Given the description of an element on the screen output the (x, y) to click on. 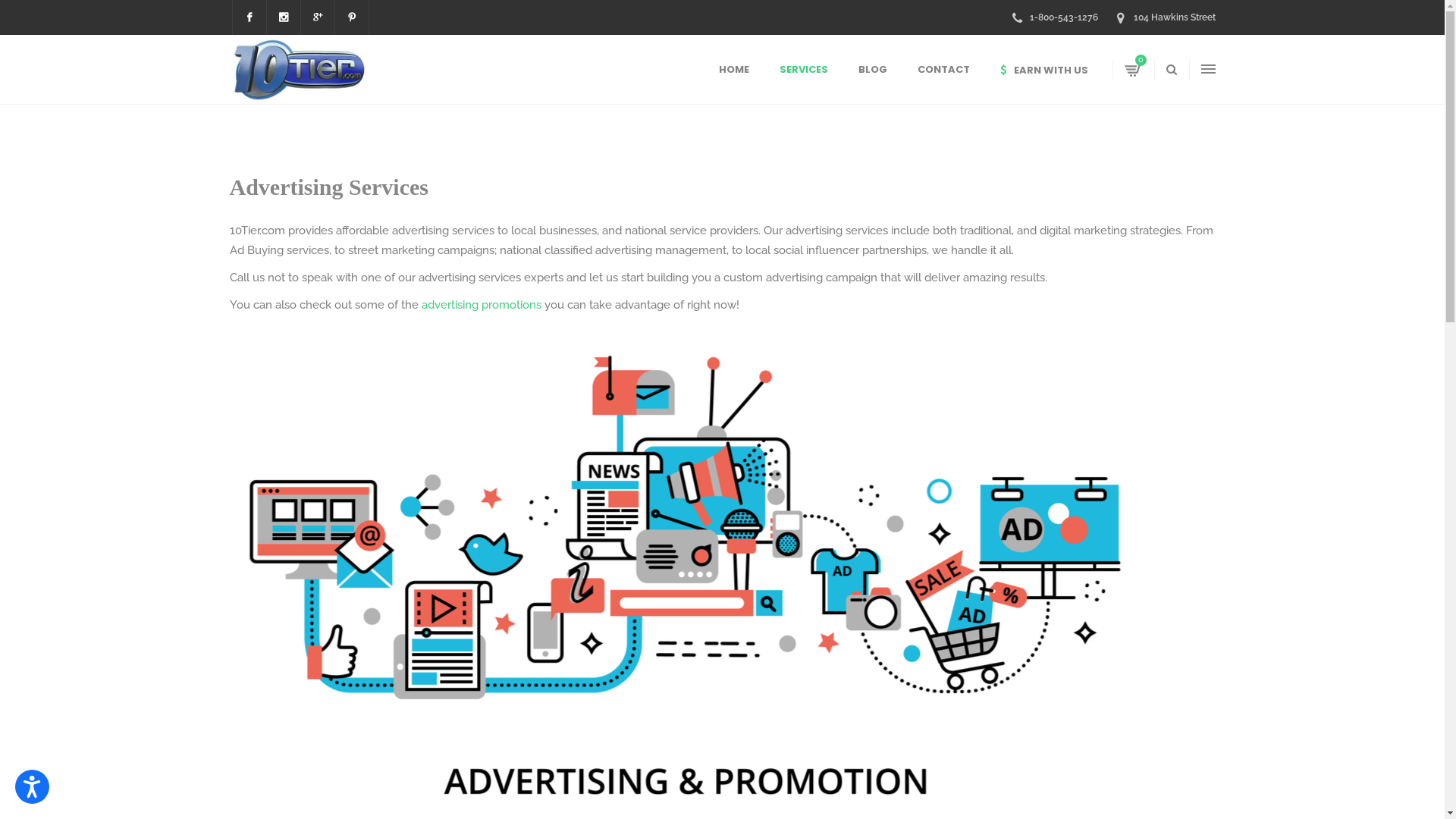
EARN WITH US Element type: text (1043, 68)
Search Element type: text (1144, 128)
CONTACT Element type: text (943, 68)
advertising promotions Element type: text (481, 304)
online advertising experts NYC Element type: hover (684, 576)
BLOG Element type: text (872, 68)
HOME Element type: text (733, 68)
0 Element type: text (1132, 69)
SERVICES Element type: text (803, 68)
